Given the description of an element on the screen output the (x, y) to click on. 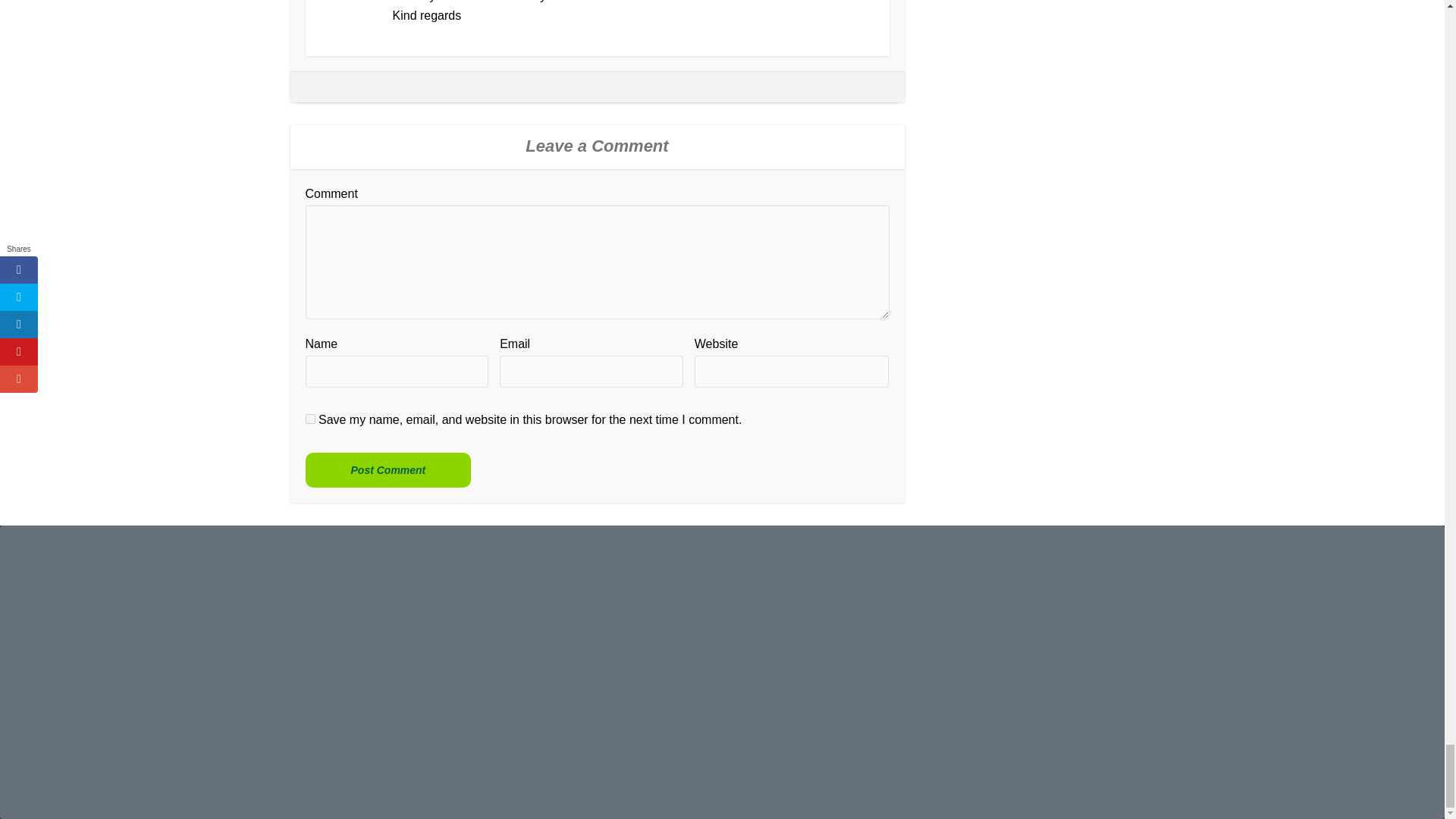
Post Comment (387, 469)
yes (309, 419)
